Given the description of an element on the screen output the (x, y) to click on. 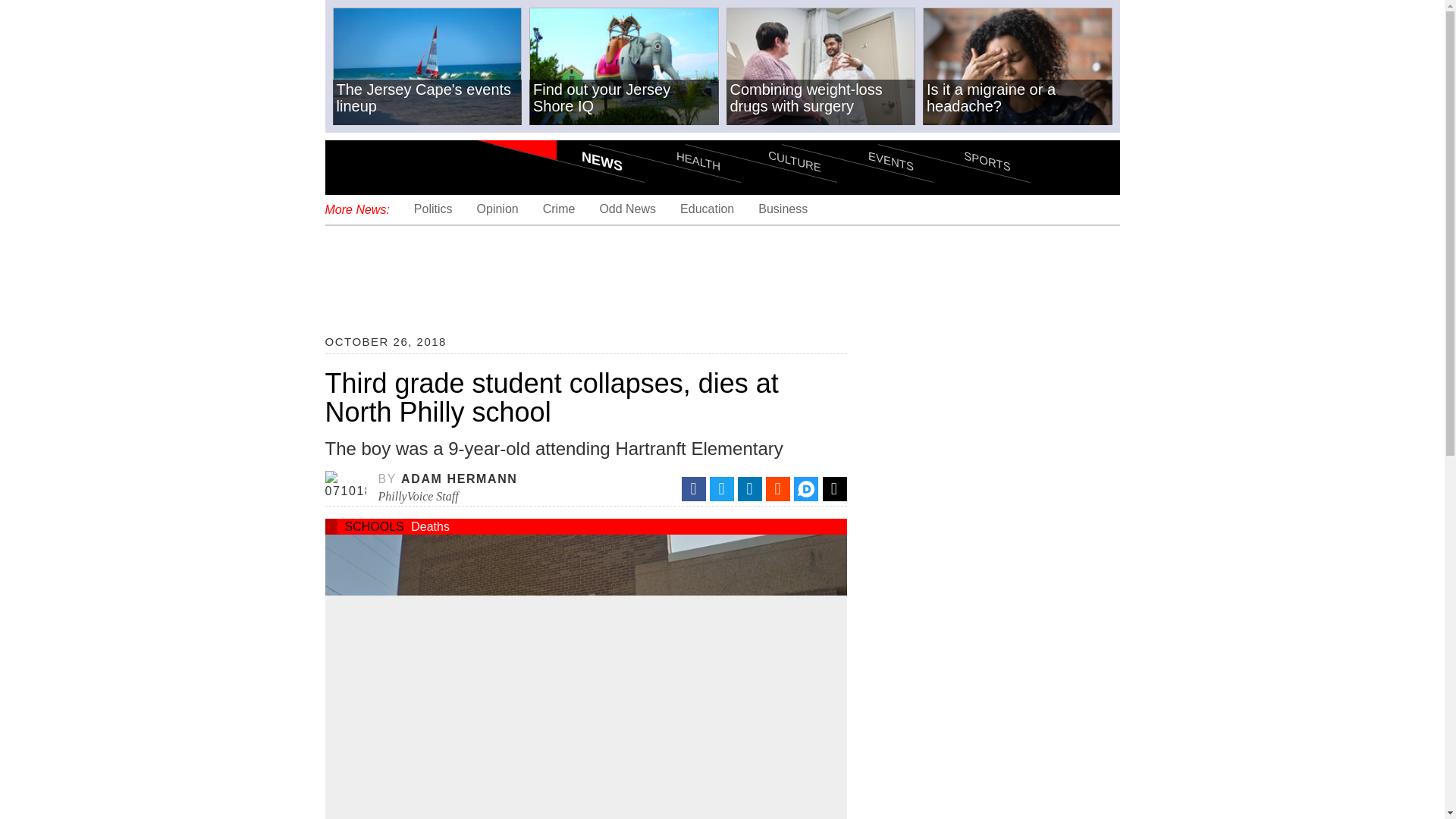
PhillyVoice (428, 166)
The Jersey Cape's events lineup (426, 67)
Email (833, 488)
Is it a migraine or a headache? (1017, 67)
Reddit (777, 488)
CULTURE (761, 132)
Find out your Jersey Shore IQ (624, 67)
EVENTS (856, 132)
Combining weight-loss drugs with surgery (820, 67)
Menu (348, 167)
